Given the description of an element on the screen output the (x, y) to click on. 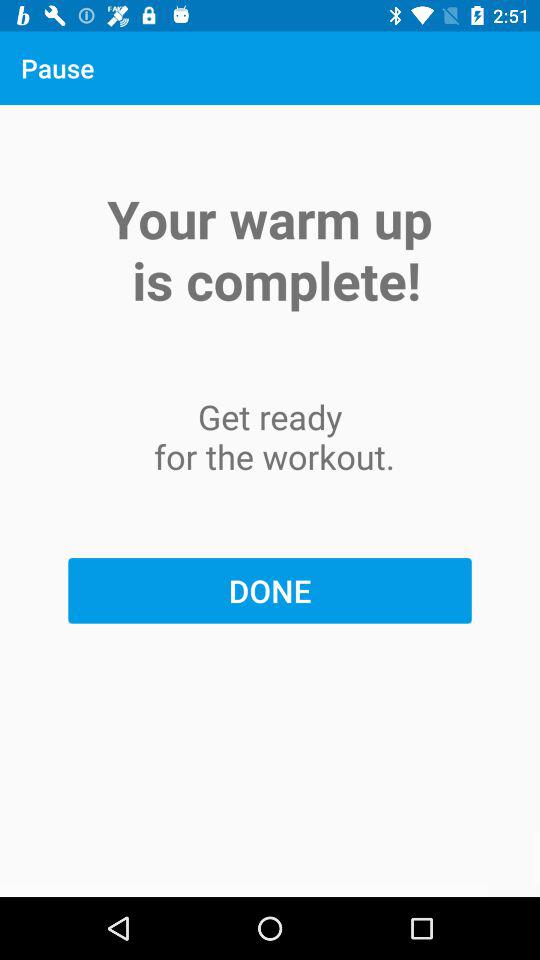
swipe to the done item (269, 590)
